Given the description of an element on the screen output the (x, y) to click on. 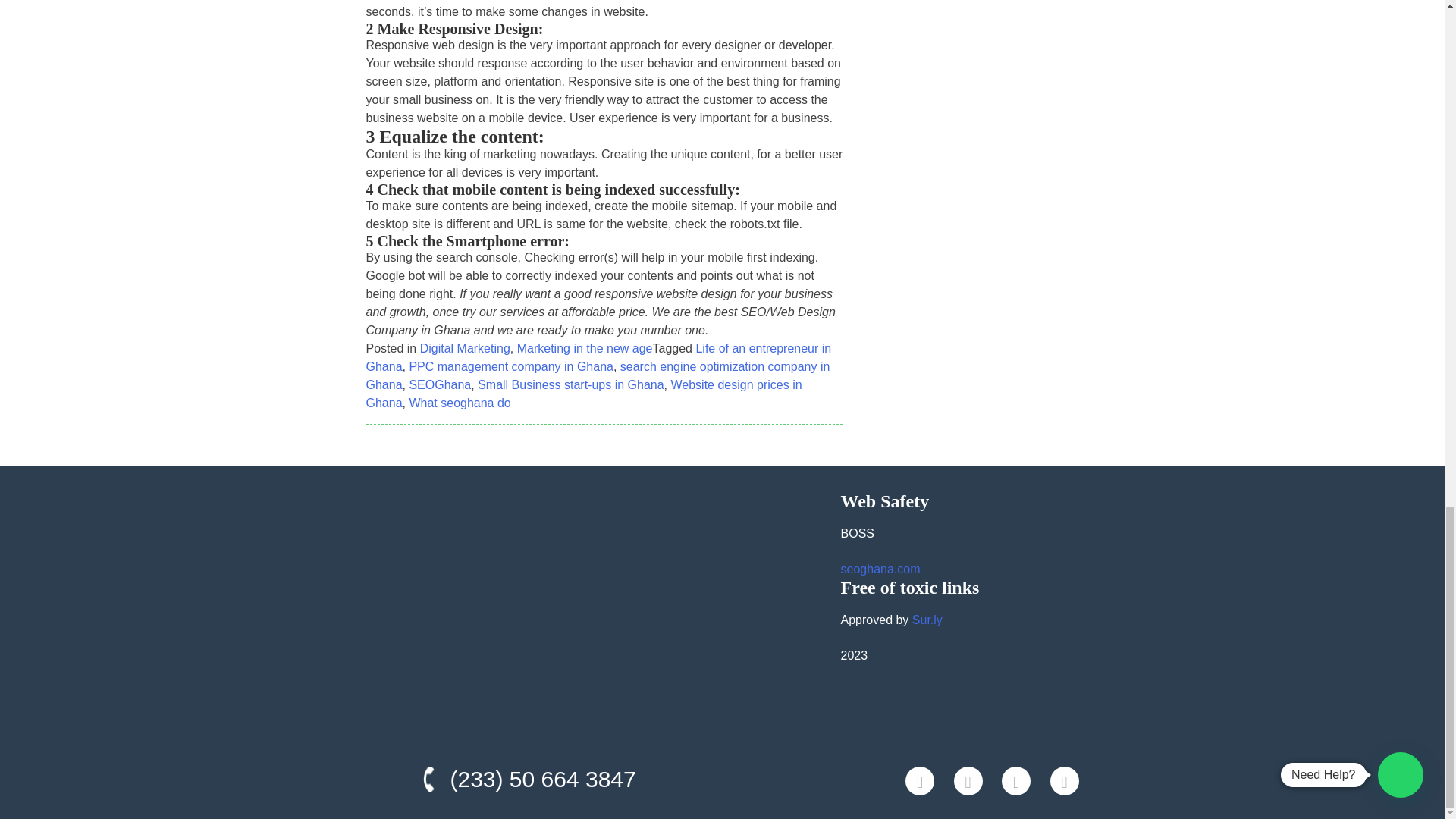
Digital Marketing (465, 348)
Website design prices in Ghana (583, 393)
What seoghana do (460, 402)
search engine optimization company in Ghana (597, 375)
Marketing in the new age (584, 348)
PPC management company in Ghana (510, 366)
SEOGhana (439, 384)
Life of an entrepreneur in Ghana (598, 357)
Small Business start-ups in Ghana (570, 384)
